Given the description of an element on the screen output the (x, y) to click on. 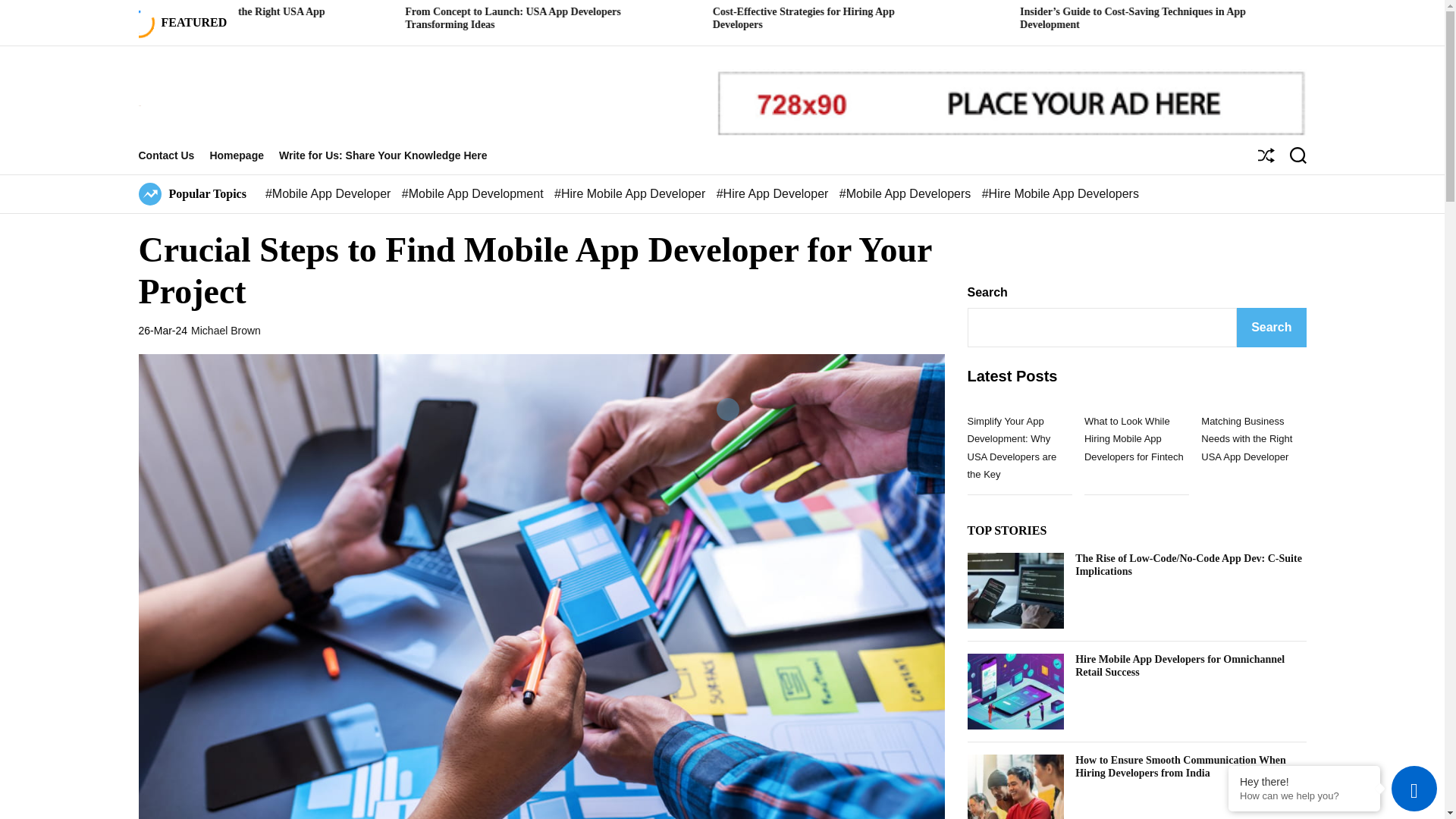
Cost-Effective Strategies for Hiring App Developers (1008, 17)
Hey there! (1304, 781)
How can we help you? (1304, 795)
Matching Business Needs with the Right USA App Developer (415, 17)
